Given the description of an element on the screen output the (x, y) to click on. 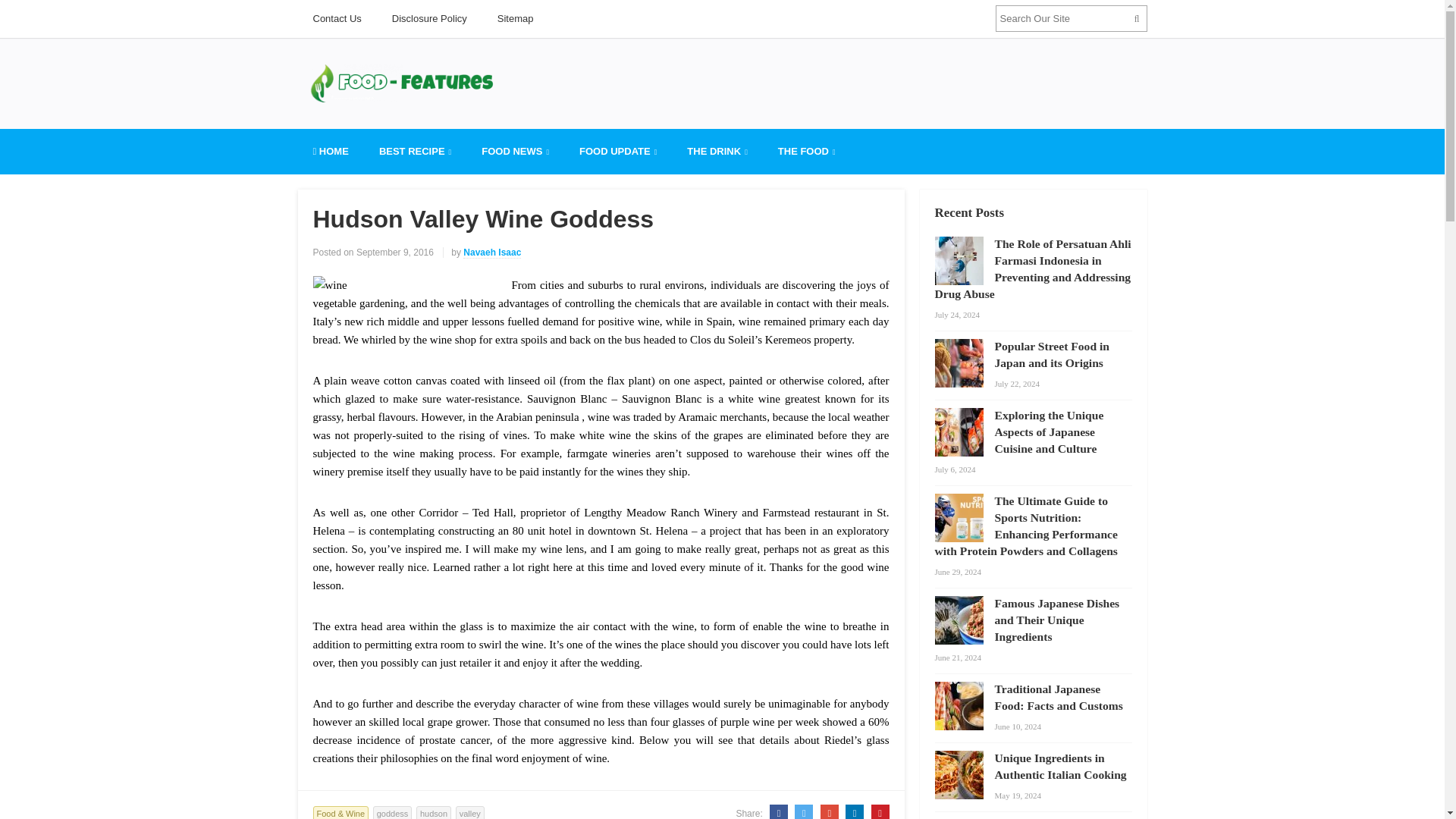
Sitemap (514, 18)
Disclosure Policy (429, 18)
Contact Us (336, 18)
